Given the description of an element on the screen output the (x, y) to click on. 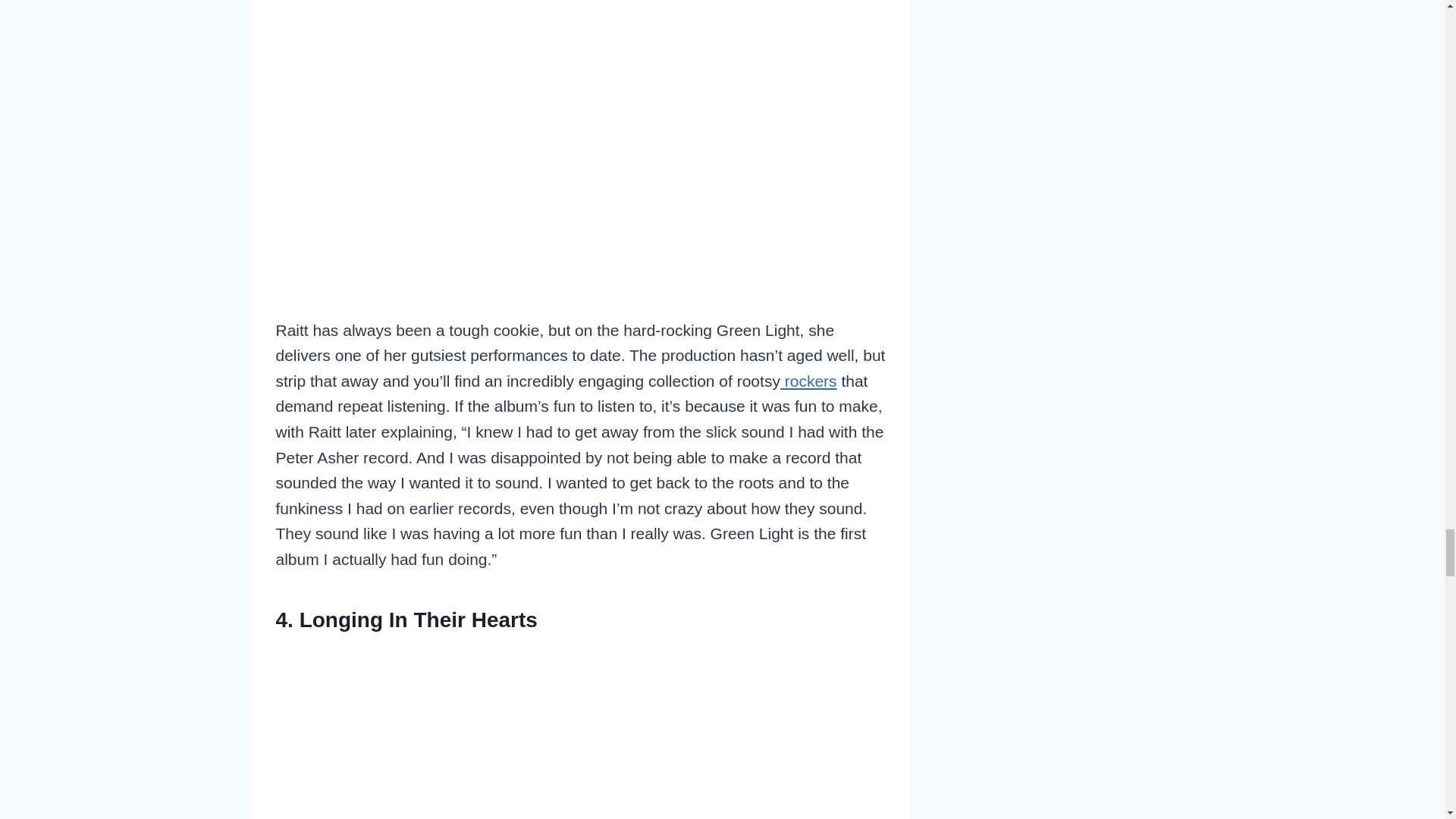
Love Sneakin' Up On You (581, 733)
rockers (808, 380)
